Given the description of an element on the screen output the (x, y) to click on. 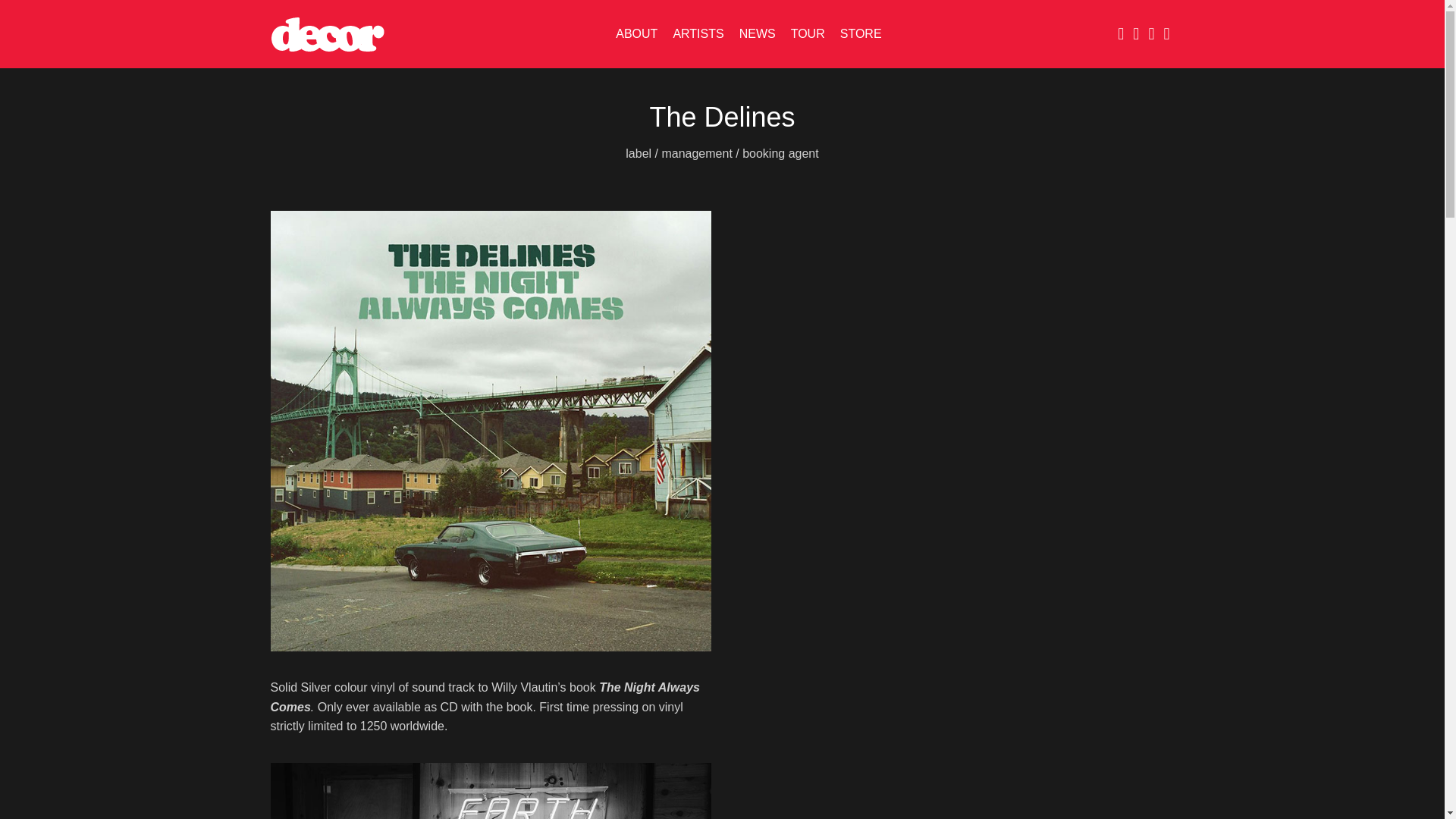
The Delines - Little Earl (953, 334)
TOUR (807, 33)
ABOUT (636, 33)
STORE (861, 33)
ARTISTS (697, 33)
NEWS (757, 33)
